Given the description of an element on the screen output the (x, y) to click on. 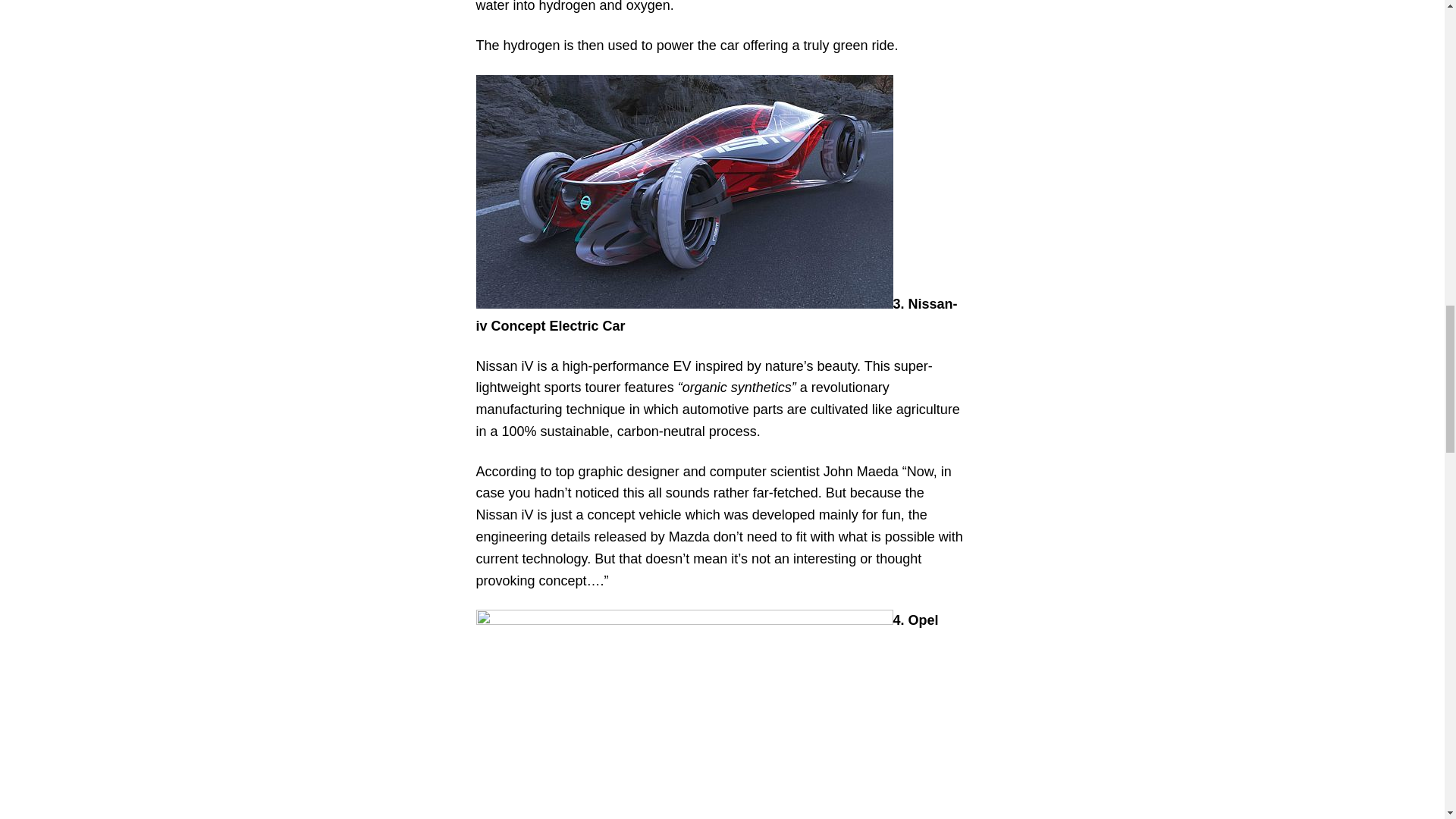
Opel-flow Solar-powered Concept Car (684, 714)
Nissan-iv Concept Electric Car (684, 191)
